Given the description of an element on the screen output the (x, y) to click on. 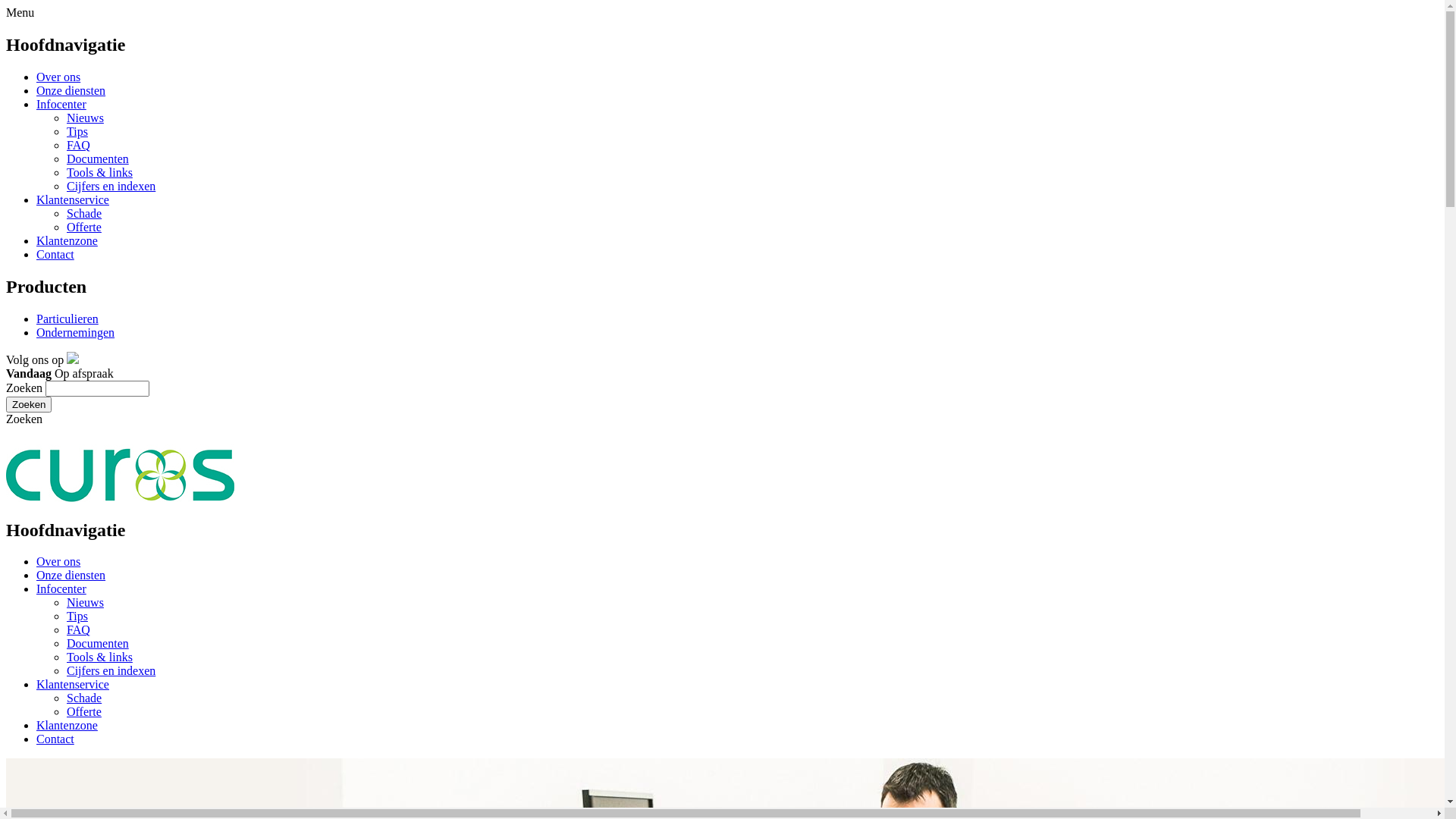
Tools & links Element type: text (99, 172)
Onze diensten Element type: text (70, 574)
Offerte Element type: text (83, 226)
Zoeken Element type: text (28, 404)
Contact Element type: text (55, 253)
Klantenservice Element type: text (72, 683)
Tips Element type: text (76, 615)
Over ons Element type: text (58, 76)
Klantenzone Element type: text (66, 724)
Nieuws Element type: text (84, 602)
Onze diensten Element type: text (70, 90)
Infocenter Element type: text (61, 588)
Klantenservice Element type: text (72, 199)
Offerte Element type: text (83, 711)
Schade Element type: text (83, 213)
FAQ Element type: text (78, 629)
Ondernemingen Element type: text (75, 332)
Particulieren Element type: text (67, 318)
Klantenzone Element type: text (66, 240)
Tips Element type: text (76, 131)
Documenten Element type: text (97, 158)
FAQ Element type: text (78, 144)
Cijfers en indexen Element type: text (110, 670)
Contact Element type: text (55, 738)
Schade Element type: text (83, 697)
Geef de woorden op waarnaar u wilt zoeken. Element type: hover (97, 388)
Nieuws Element type: text (84, 117)
Documenten Element type: text (97, 643)
Infocenter Element type: text (61, 103)
Over ons Element type: text (58, 561)
Cijfers en indexen Element type: text (110, 185)
Tools & links Element type: text (99, 656)
